Given the description of an element on the screen output the (x, y) to click on. 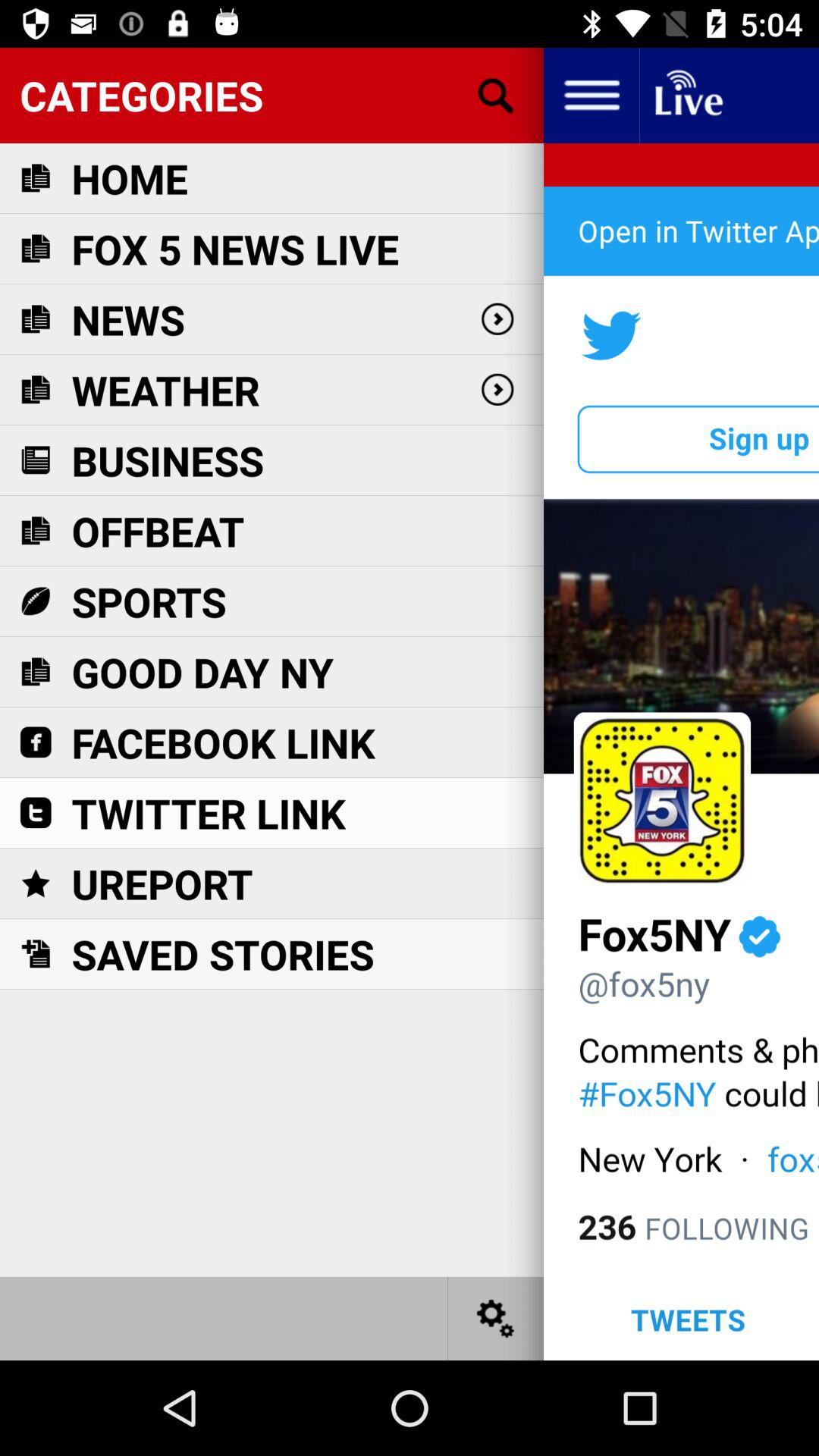
swipe to the twitter link icon (208, 812)
